Given the description of an element on the screen output the (x, y) to click on. 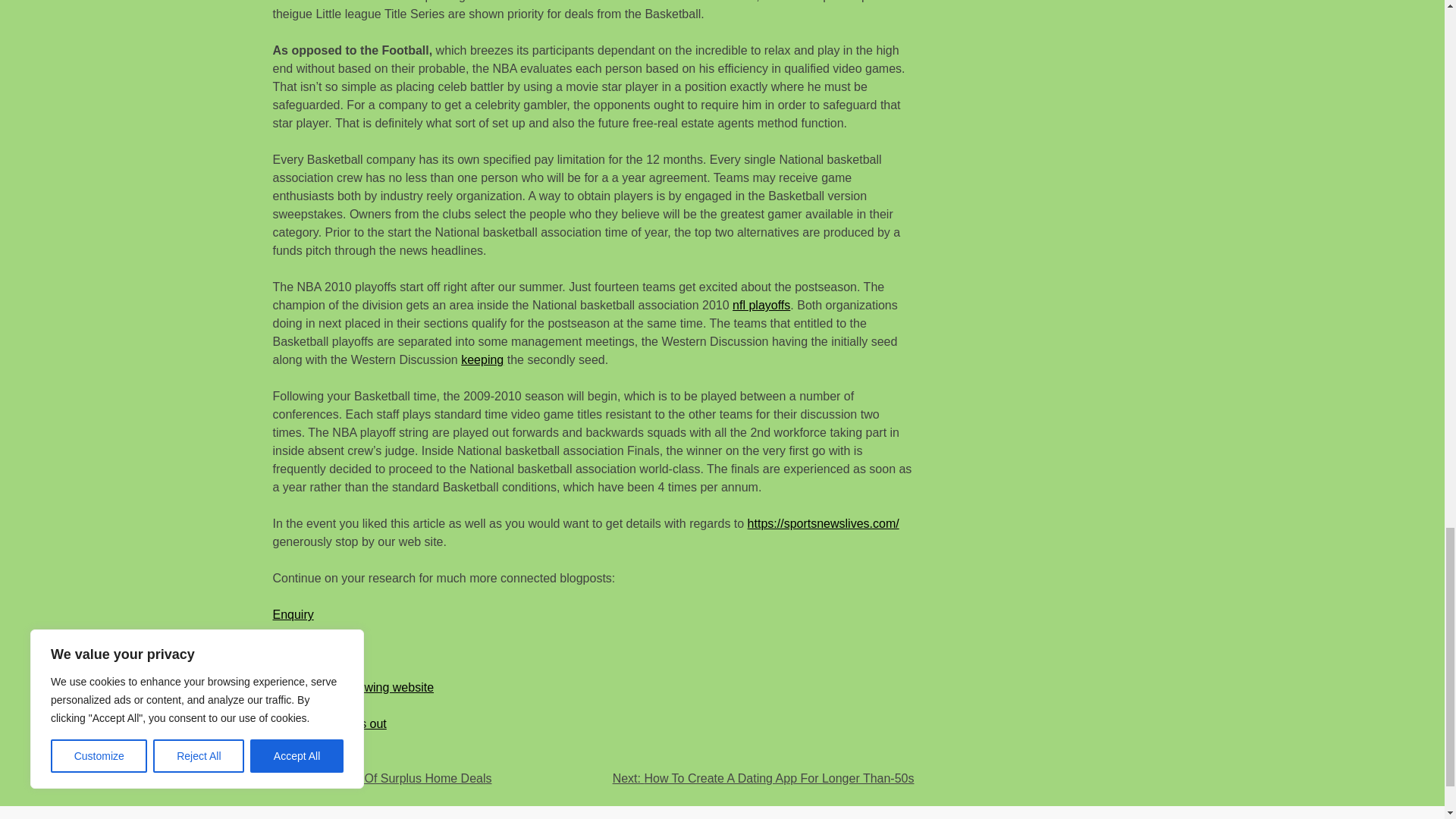
Deals (320, 759)
check these guys out (330, 723)
keeping (482, 359)
just click the following website (353, 686)
Similar web site (315, 650)
Enquiry (293, 614)
nfl playoffs (761, 305)
Next: How To Create A Dating App For Longer Than-50s (763, 778)
Previous: Forms Of Surplus Home Deals (382, 778)
